Given the description of an element on the screen output the (x, y) to click on. 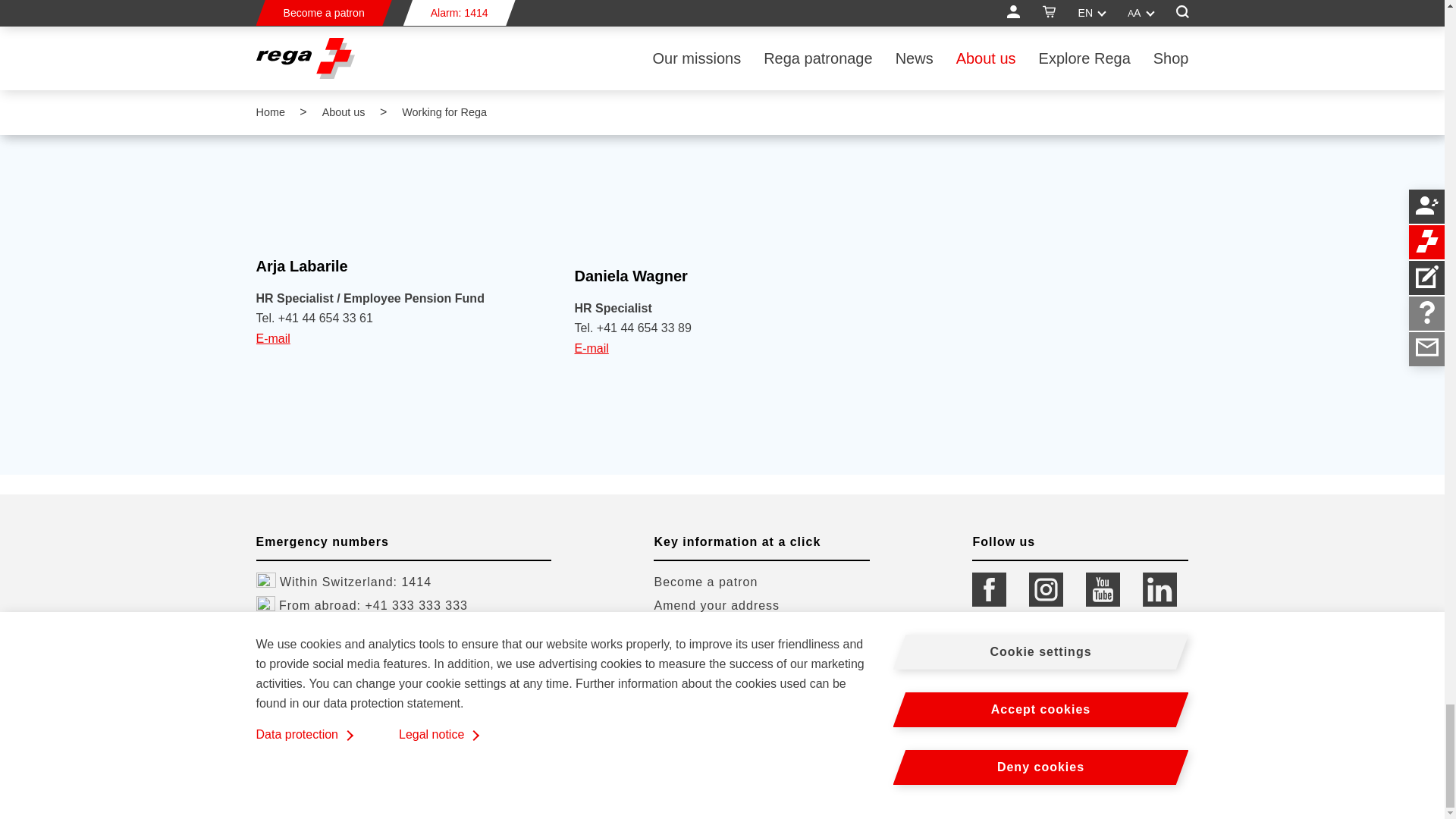
Follow us on Youtube (1102, 602)
Follow us on Instagram (1045, 602)
Follow us on Facebook (989, 602)
Rega erleben (705, 581)
